Given the description of an element on the screen output the (x, y) to click on. 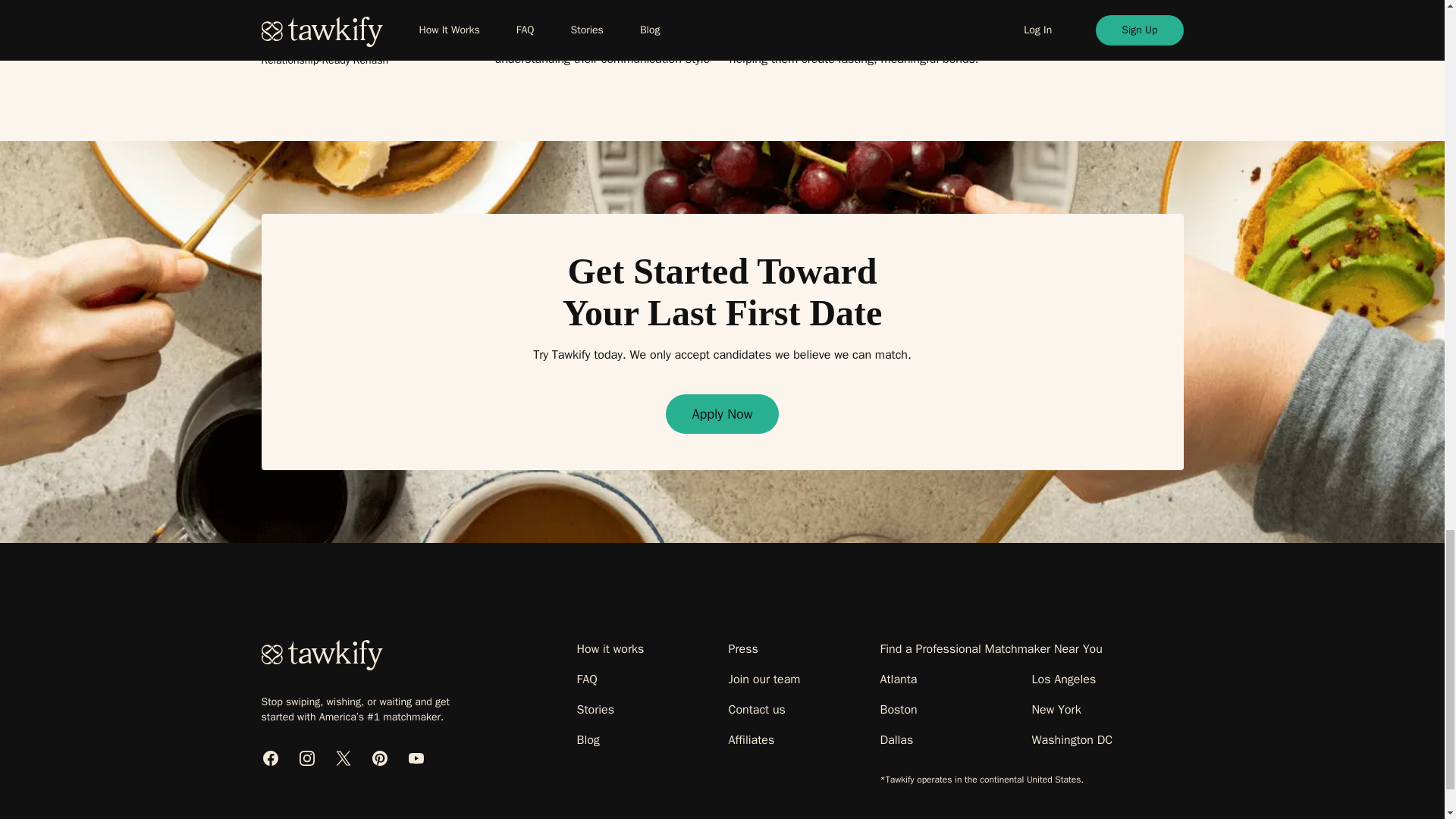
Atlanta (898, 679)
YouTube (415, 758)
Blog (587, 739)
Washington DC (1071, 739)
Facebook (269, 758)
Pinterest (378, 758)
How it works (609, 648)
Apply Now (721, 414)
Press (742, 648)
Join our team (763, 679)
